Given the description of an element on the screen output the (x, y) to click on. 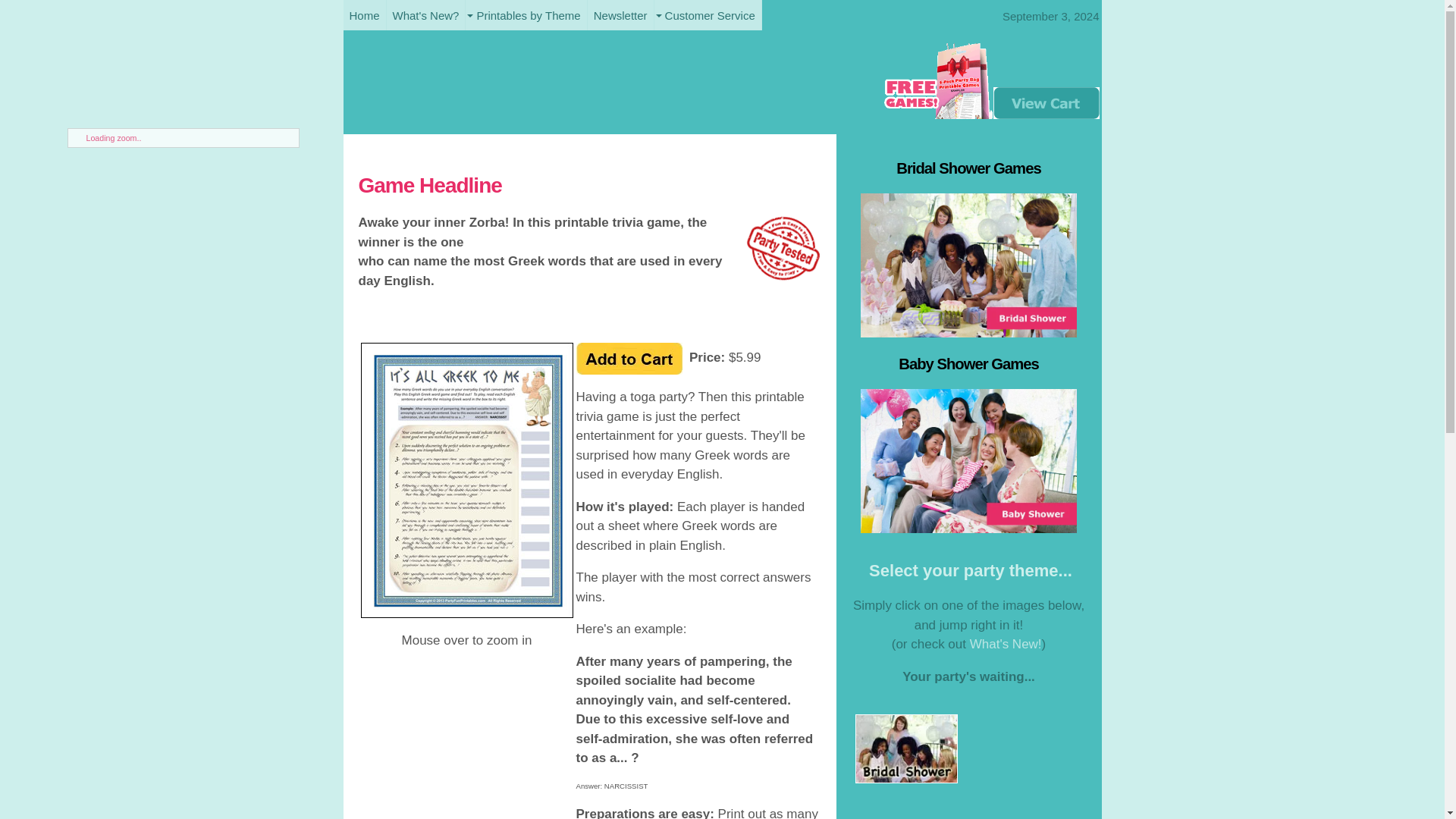
Go to Printable Bridal Shower Games (907, 779)
What's New? (426, 15)
Go to Cute Printable Baby Shower Games (968, 528)
Go to Printable Bridal Shower Games (968, 332)
Printable Bridal Shower Games (968, 265)
Printable Baby Shower Games (968, 461)
Home (363, 15)
Loading zoom.. (191, 137)
Newsletter (620, 15)
What's New! (1005, 644)
